Given the description of an element on the screen output the (x, y) to click on. 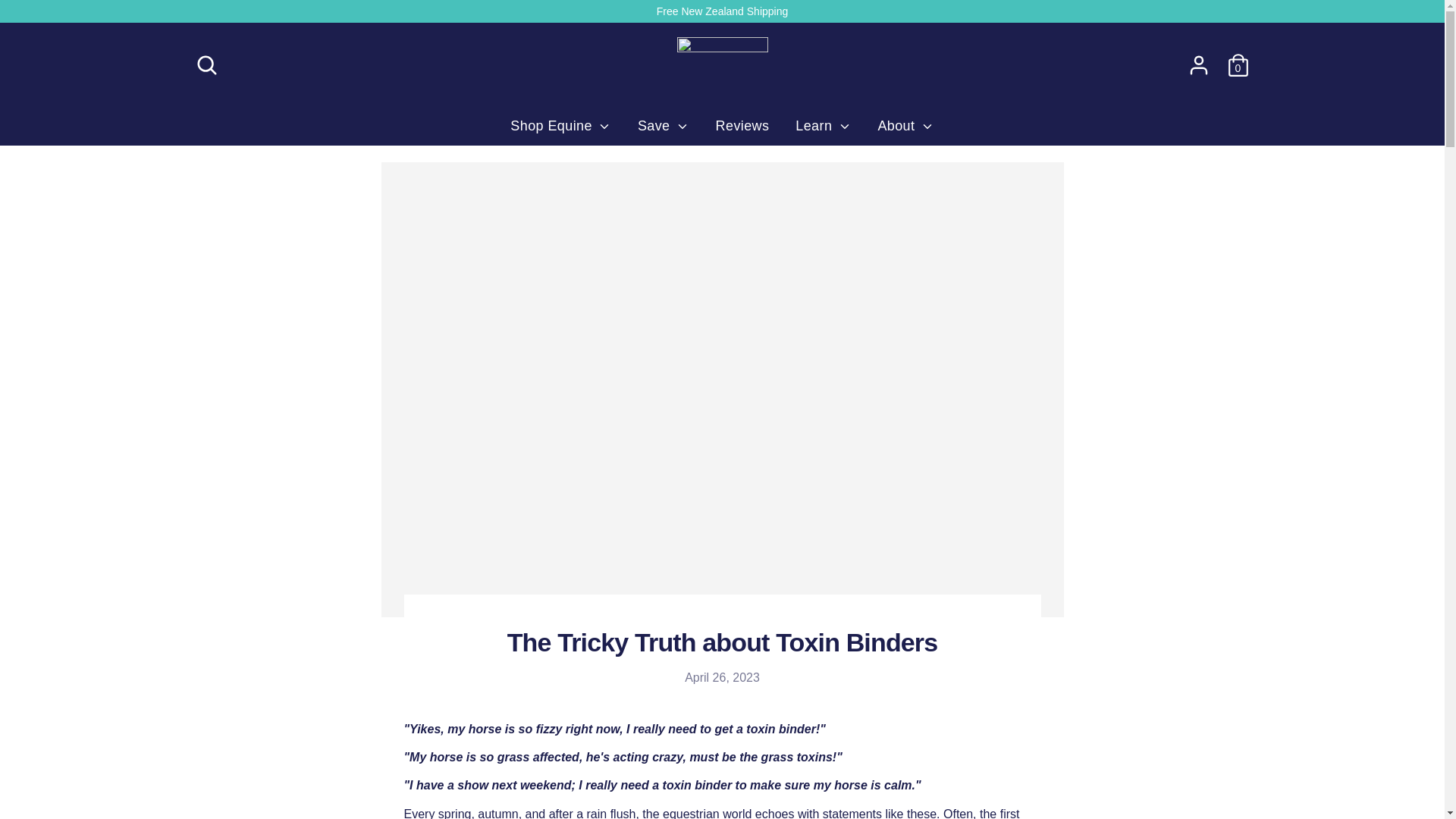
Search (205, 64)
0 (1237, 64)
